Given the description of an element on the screen output the (x, y) to click on. 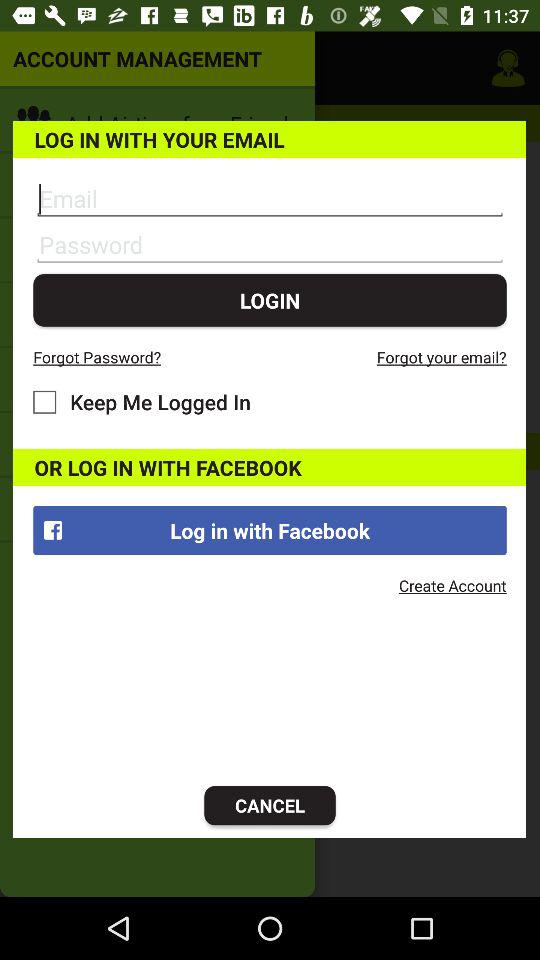
choose the icon below log in with item (452, 585)
